Given the description of an element on the screen output the (x, y) to click on. 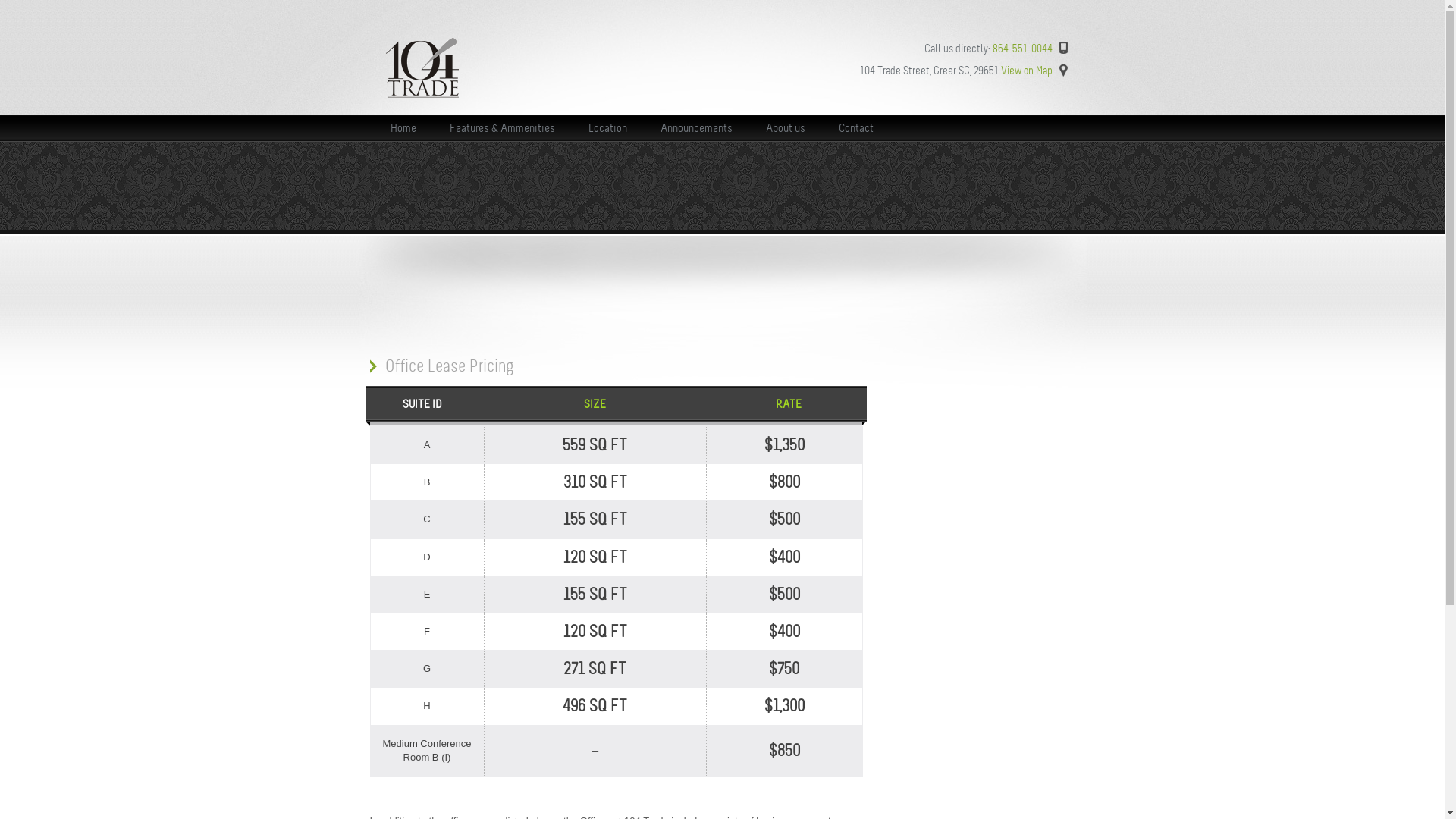
Announcements Element type: text (695, 124)
Home Element type: text (402, 124)
About us Element type: text (785, 124)
Features & Ammenities Element type: text (501, 124)
Location Element type: text (607, 124)
View on Map Element type: text (1026, 70)
Contact Element type: text (856, 124)
